Given the description of an element on the screen output the (x, y) to click on. 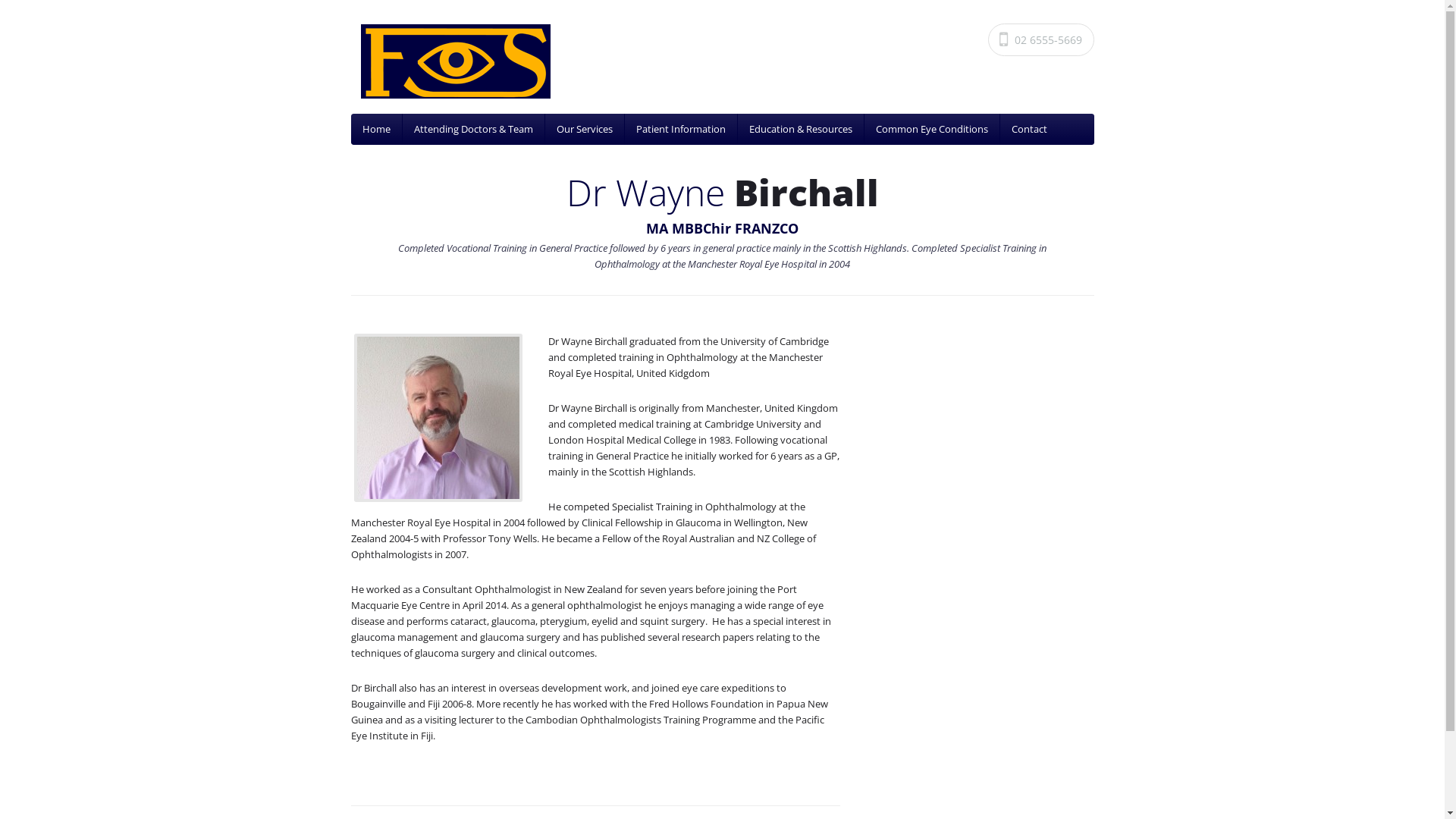
Dr Wayne Birchall Element type: hover (437, 498)
Education & Resources Element type: text (799, 128)
Common Eye Conditions Element type: text (931, 128)
Cataracts, Macular Degeneration & Laser Eye Surgery Forster Element type: hover (727, 61)
Home Element type: text (375, 128)
Attending Doctors & Team Element type: text (472, 128)
Contact Element type: text (1028, 128)
Our Services Element type: text (583, 128)
Patient Information Element type: text (680, 128)
